Given the description of an element on the screen output the (x, y) to click on. 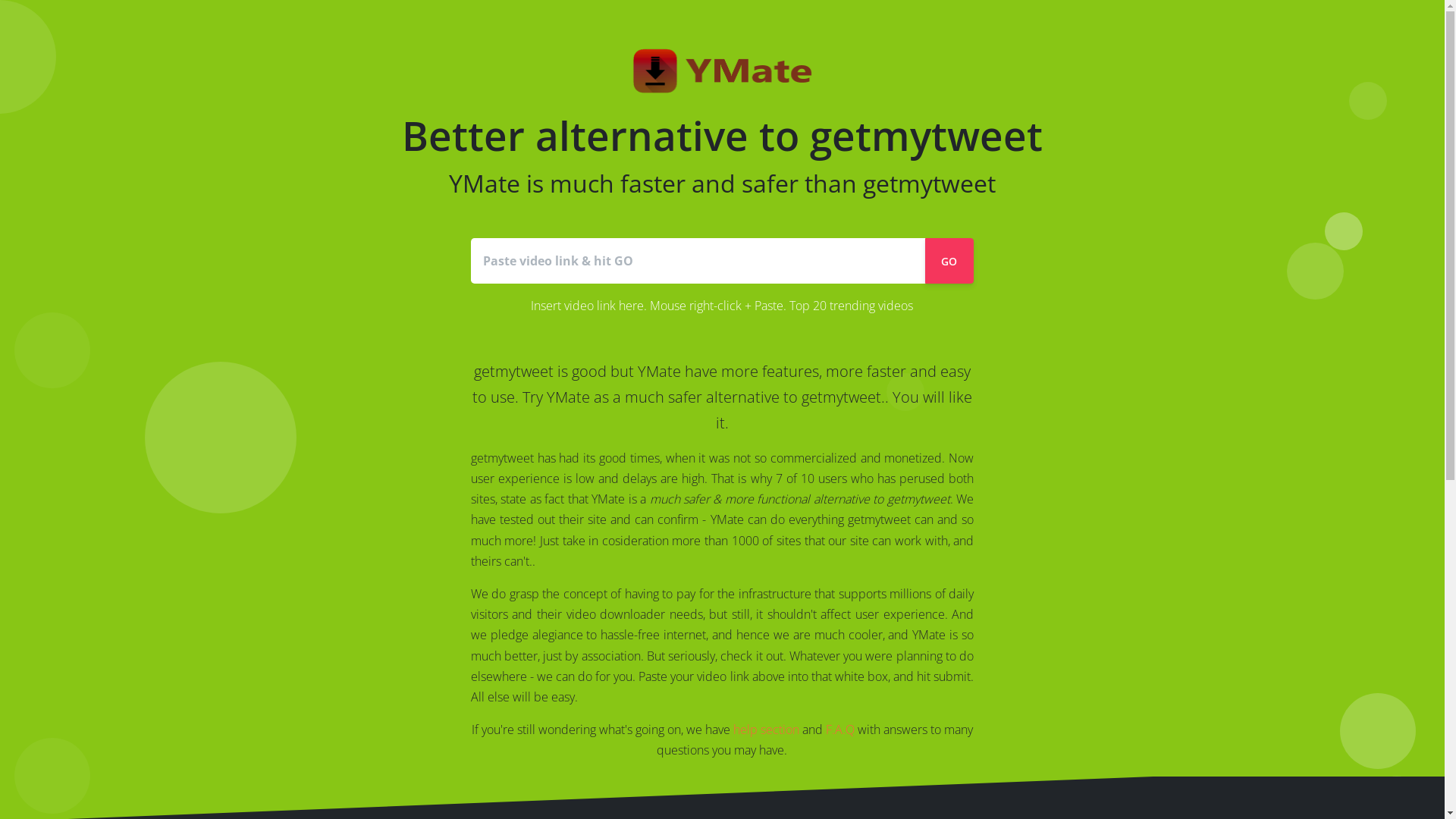
GO Element type: text (949, 260)
Better alternative to getmytweet Element type: text (722, 154)
help section Element type: text (766, 729)
F.A.Q Element type: text (839, 729)
